Given the description of an element on the screen output the (x, y) to click on. 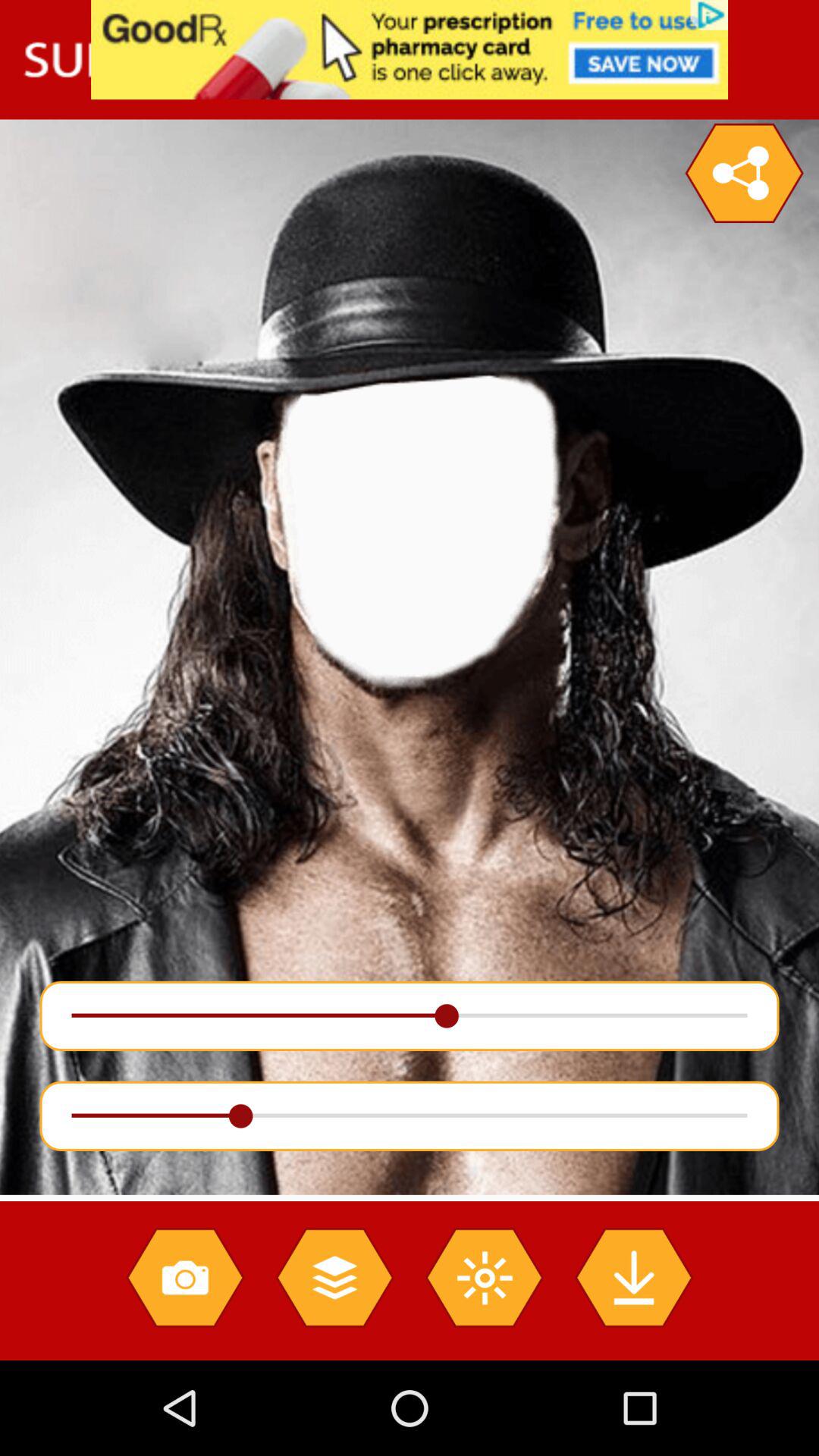
install button (633, 1277)
